Given the description of an element on the screen output the (x, y) to click on. 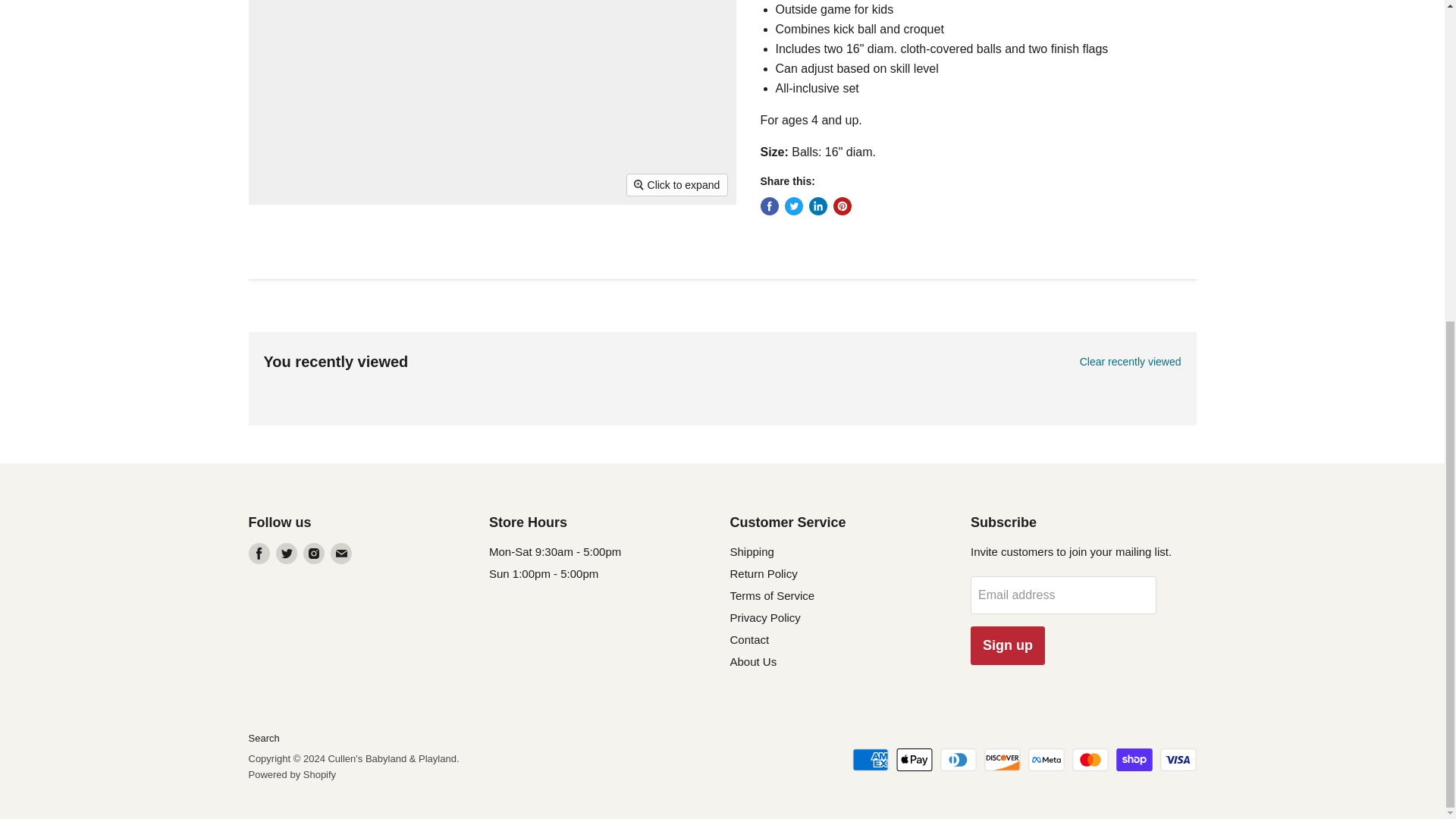
Instagram (313, 553)
Email (341, 553)
Facebook (258, 553)
Twitter (286, 553)
